Given the description of an element on the screen output the (x, y) to click on. 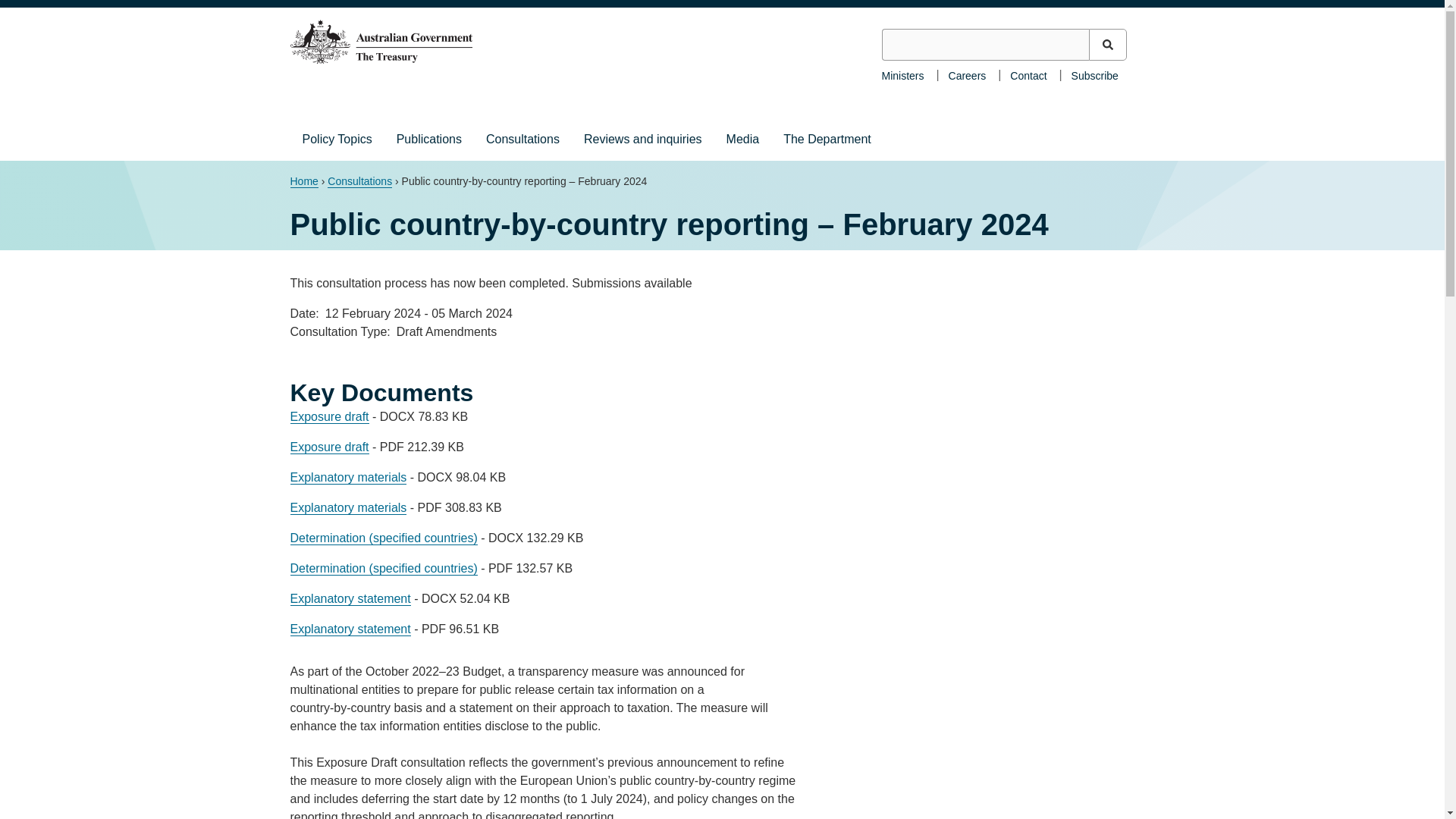
Apply (1107, 44)
The Department (827, 138)
Publications (429, 138)
Home (303, 181)
Exposure draft (328, 447)
Explanatory materials (347, 508)
Explanatory materials (347, 477)
Apply (1107, 44)
Subscribe (1094, 74)
Reviews and inquiries (643, 138)
